Given the description of an element on the screen output the (x, y) to click on. 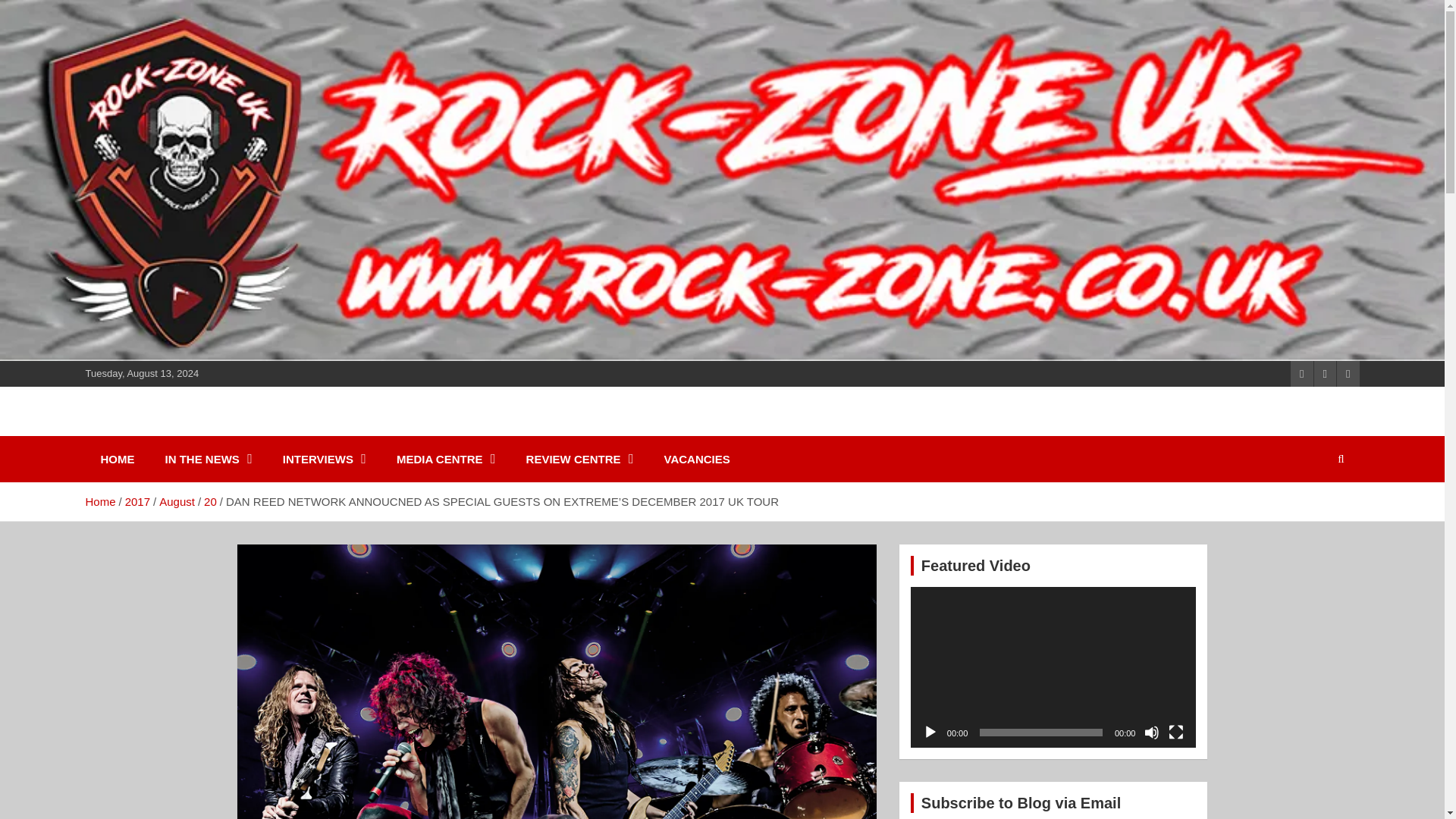
2017 (137, 501)
Fullscreen (1176, 732)
Home (99, 501)
HOME (116, 458)
IN THE NEWS (208, 458)
VACANCIES (697, 458)
Play (930, 732)
Rock Zone UK (188, 428)
Mute (1151, 732)
August (176, 501)
